Given the description of an element on the screen output the (x, y) to click on. 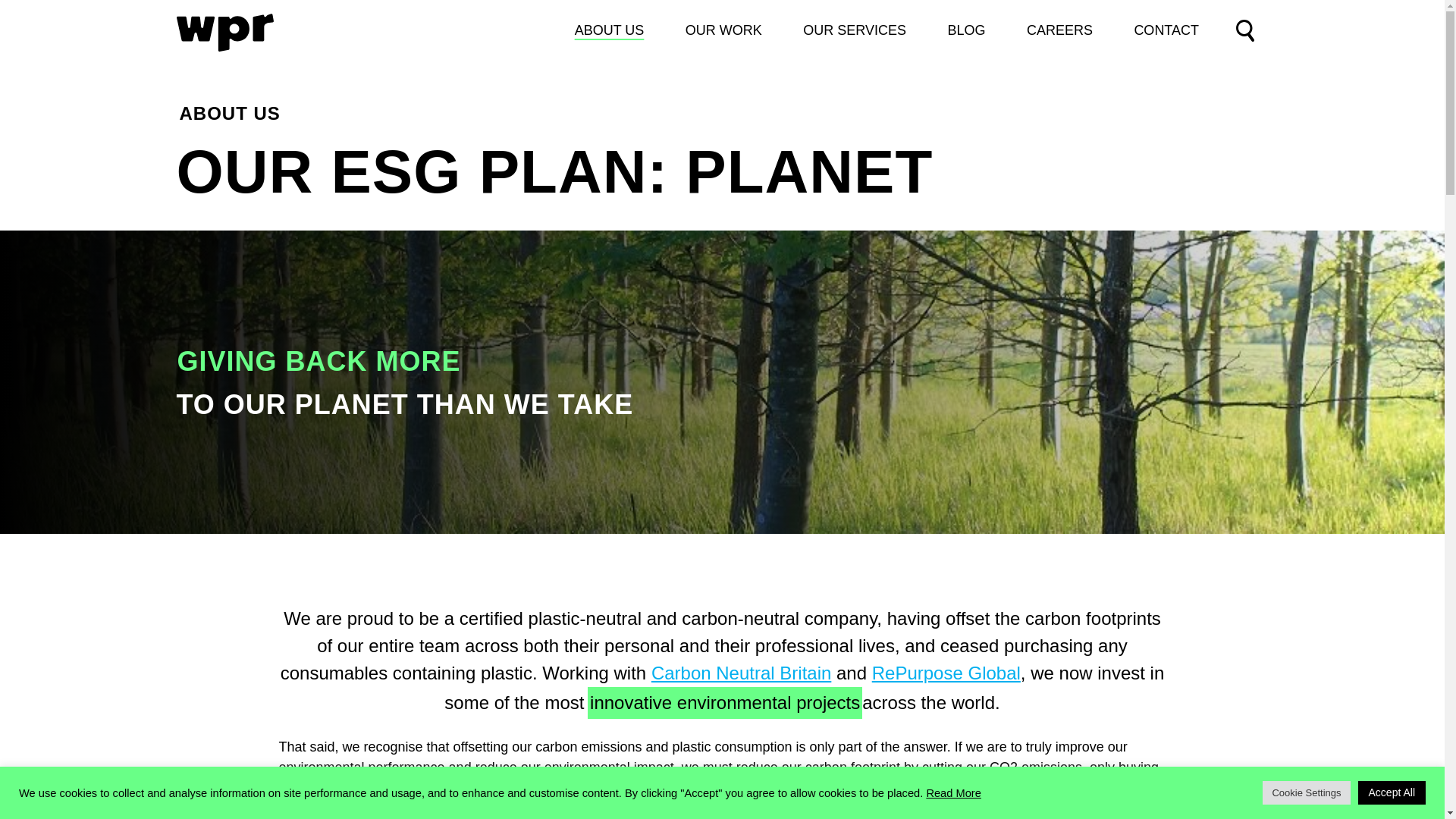
OUR SERVICES (854, 30)
ABOUT US (609, 30)
OUR WORK (723, 30)
